Given the description of an element on the screen output the (x, y) to click on. 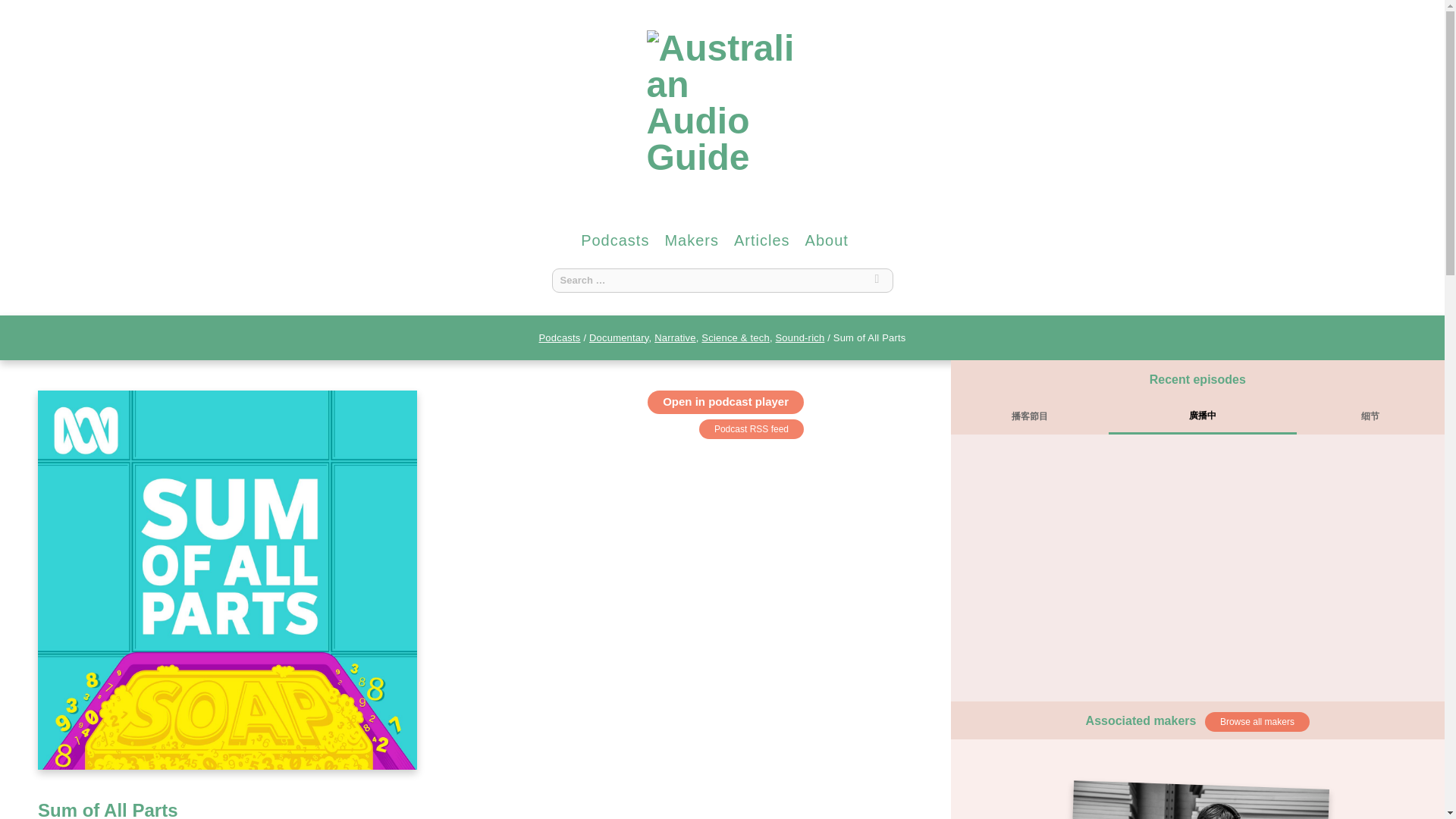
Go to the Narrative Podcast Category archives. (674, 337)
About (826, 240)
Podcasts (558, 337)
Browse all makers (1256, 721)
Sum of All Parts (107, 809)
Sound-rich (799, 337)
Narrative (674, 337)
Go to the Documentary Podcast Category archives. (619, 337)
Podcasts (614, 240)
Makers (691, 240)
